Given the description of an element on the screen output the (x, y) to click on. 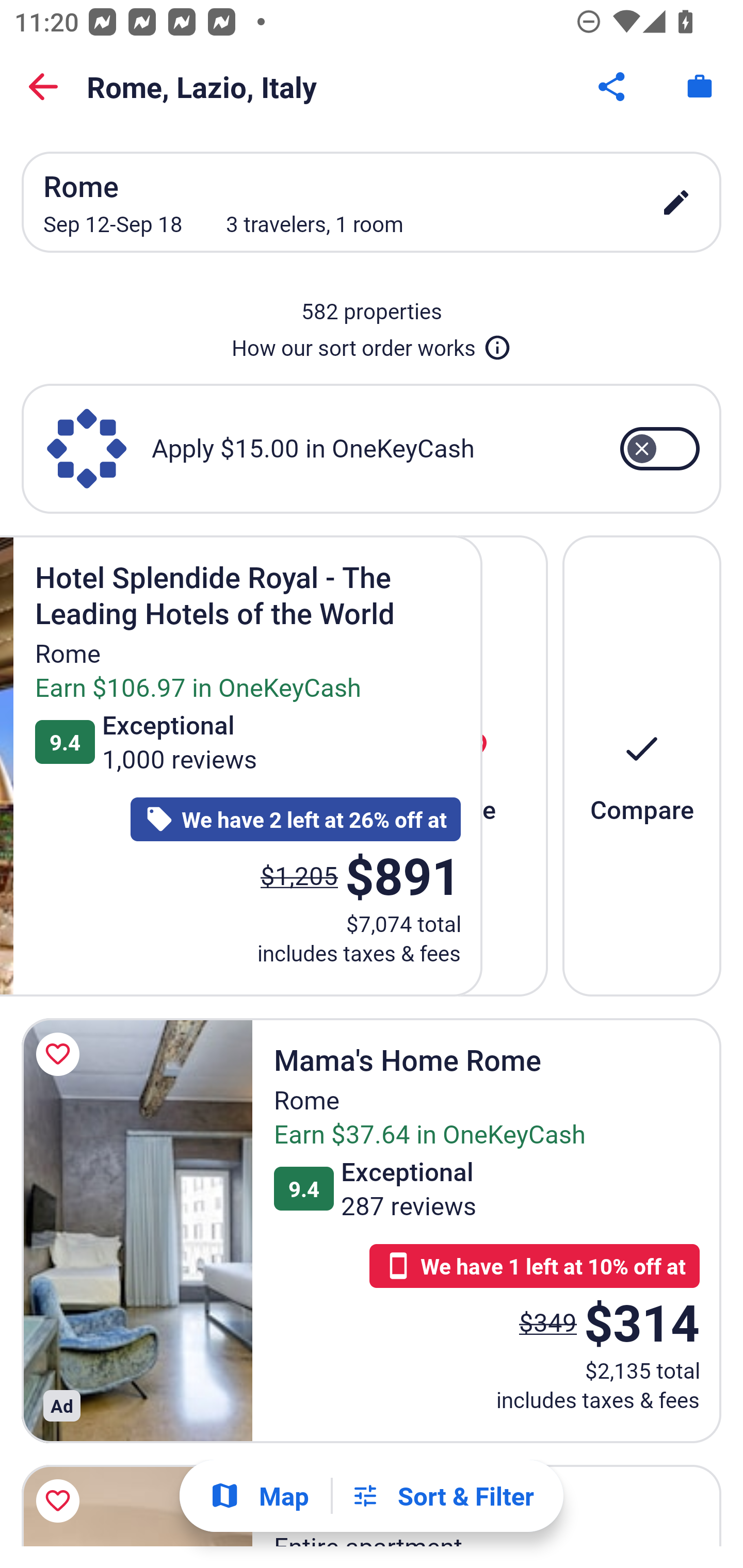
Back (43, 86)
Share Button (612, 86)
Trips. Button (699, 86)
Rome Sep 12-Sep 18 3 travelers, 1 room edit (371, 202)
How our sort order works (371, 344)
Compare (641, 765)
$1,205 The price was $1,205 (298, 875)
Save Mama's Home Rome to a trip (61, 1054)
Mama's Home Rome (136, 1229)
$349 The price was $349 (547, 1321)
Save HiSuiteROME to a trip (61, 1501)
Filters Sort & Filter Filters Button (442, 1495)
Show map Map Show map Button (258, 1495)
